Given the description of an element on the screen output the (x, y) to click on. 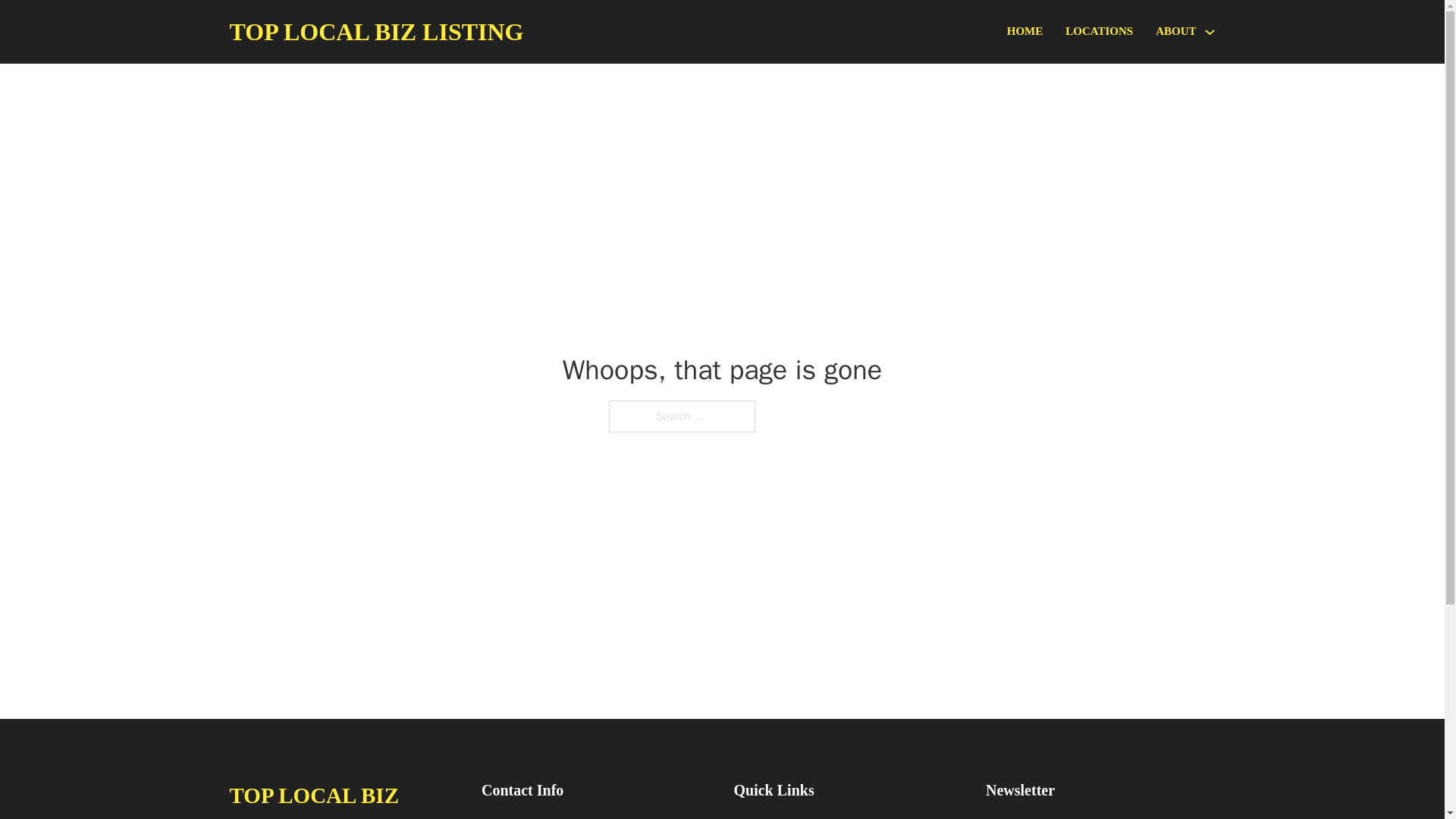
LOCATIONS (1098, 31)
HOME (1025, 31)
TOP LOCAL BIZ LISTING (375, 31)
TOP LOCAL BIZ LISTING (343, 798)
